Given the description of an element on the screen output the (x, y) to click on. 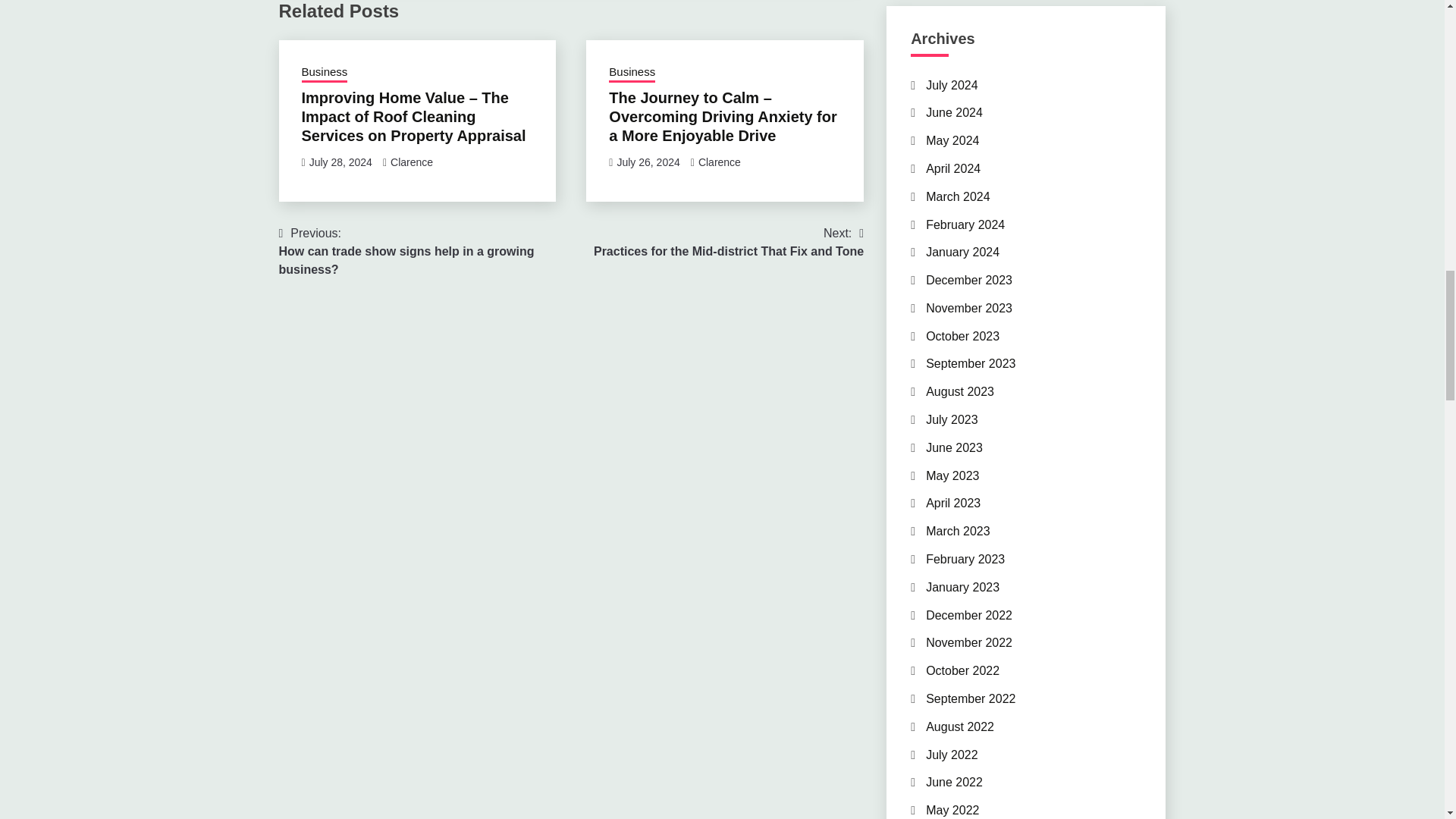
July 28, 2024 (340, 162)
Business (631, 73)
Clarence (411, 162)
July 2024 (952, 84)
July 26, 2024 (647, 162)
June 2024 (954, 112)
Clarence (728, 242)
Business (719, 162)
